Given the description of an element on the screen output the (x, y) to click on. 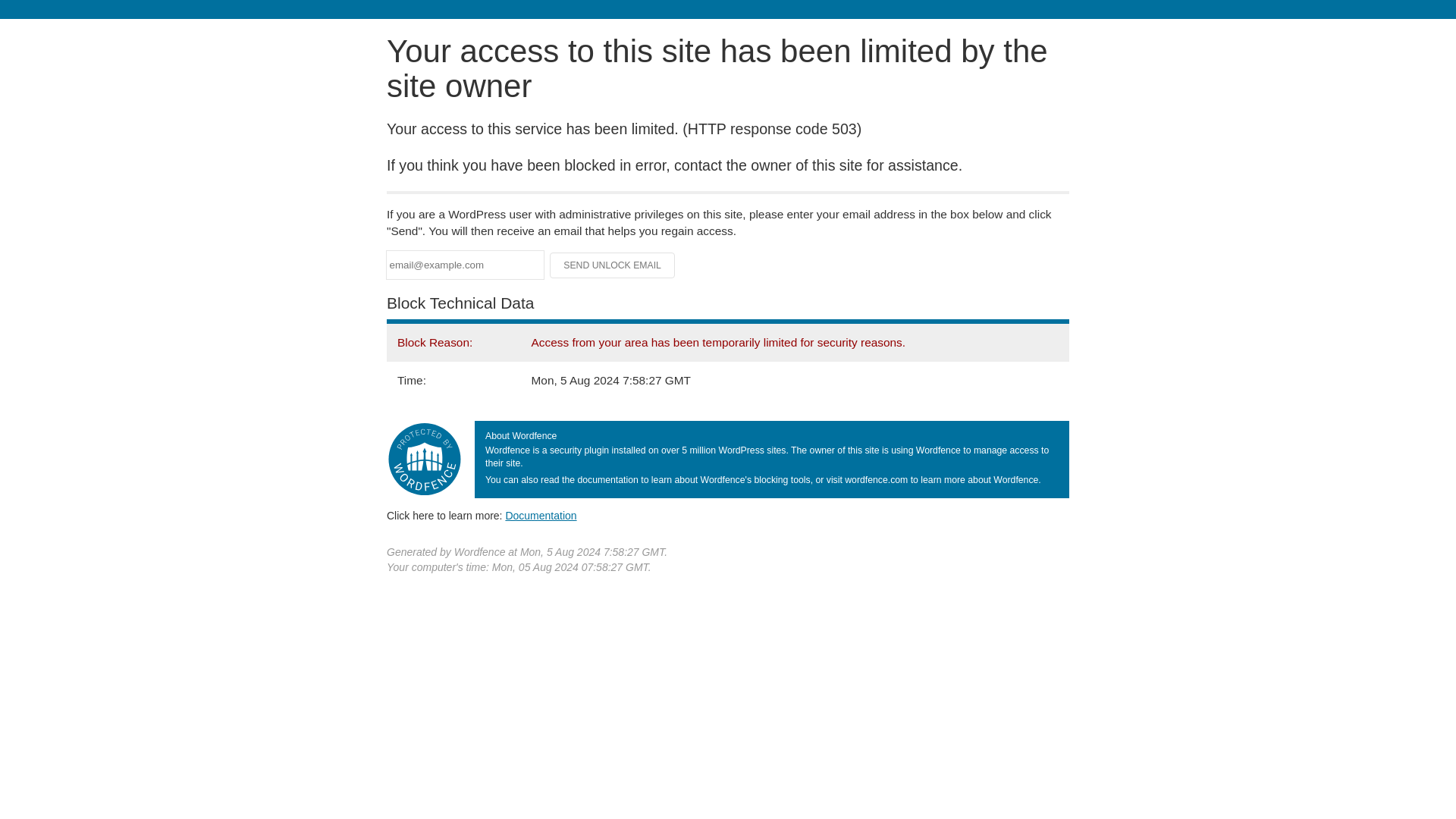
Send Unlock Email (612, 265)
Documentation (540, 515)
Send Unlock Email (612, 265)
